Given the description of an element on the screen output the (x, y) to click on. 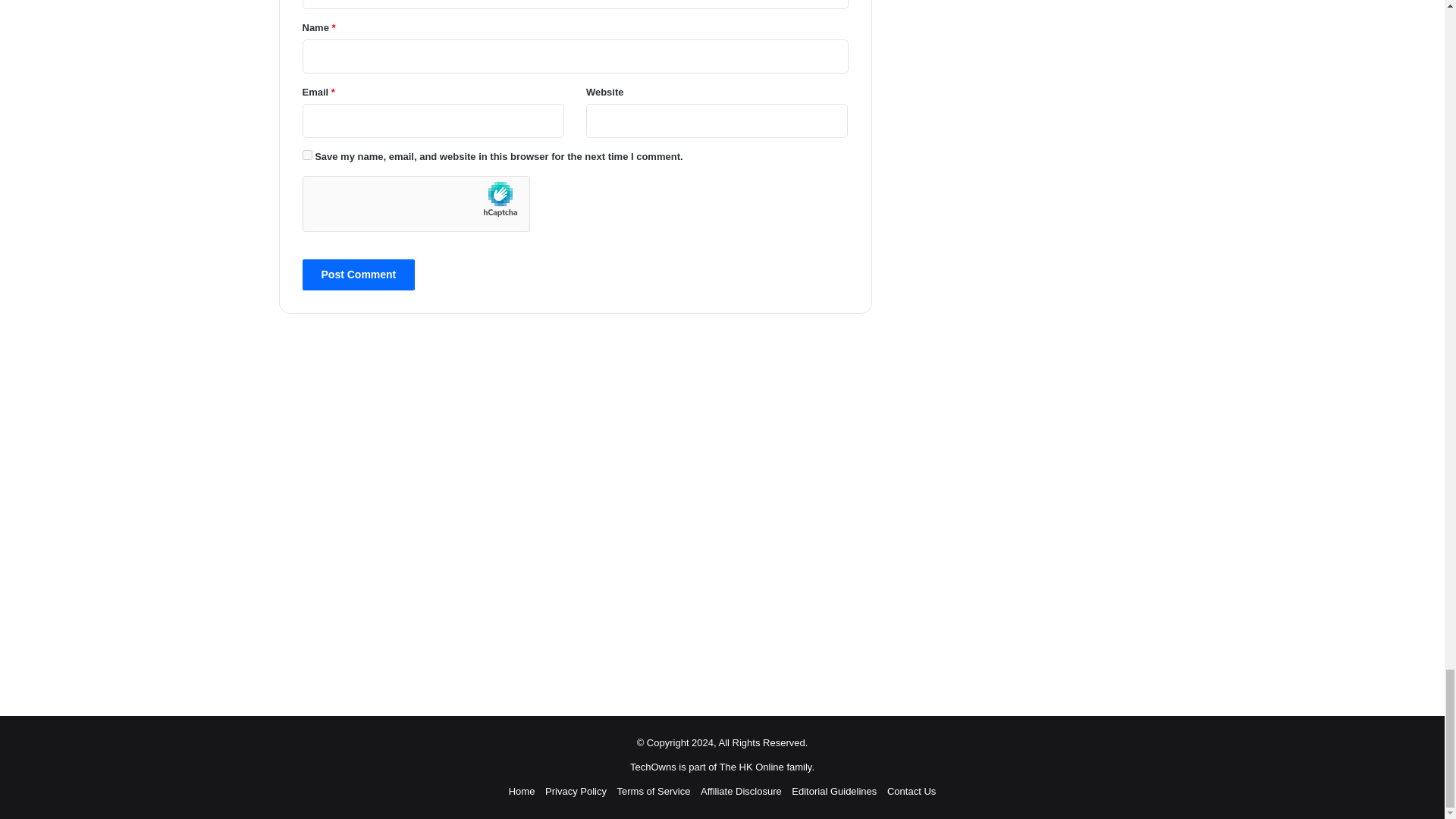
yes (306, 154)
Post Comment (357, 274)
